Given the description of an element on the screen output the (x, y) to click on. 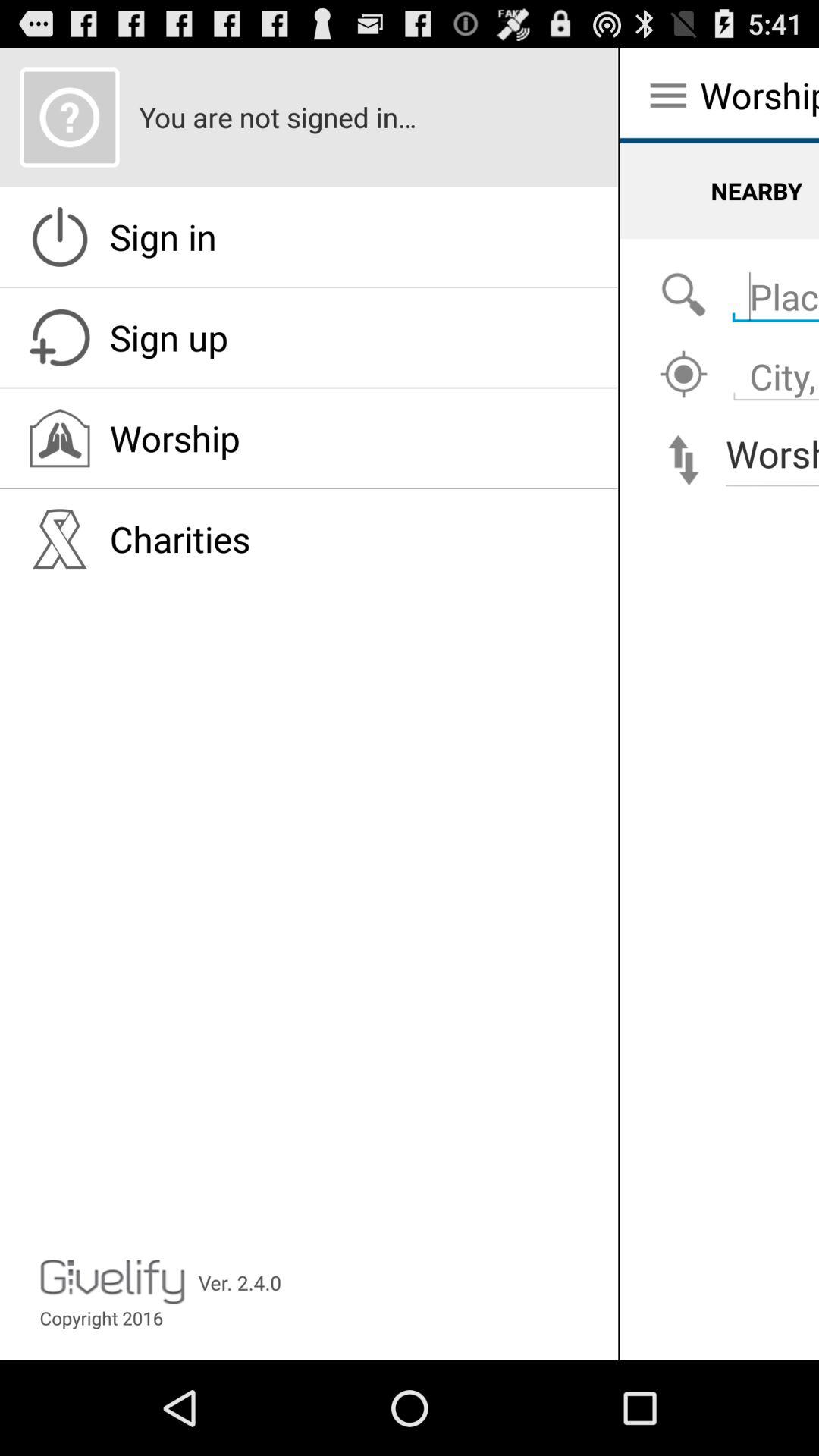
search locations (772, 368)
